Given the description of an element on the screen output the (x, y) to click on. 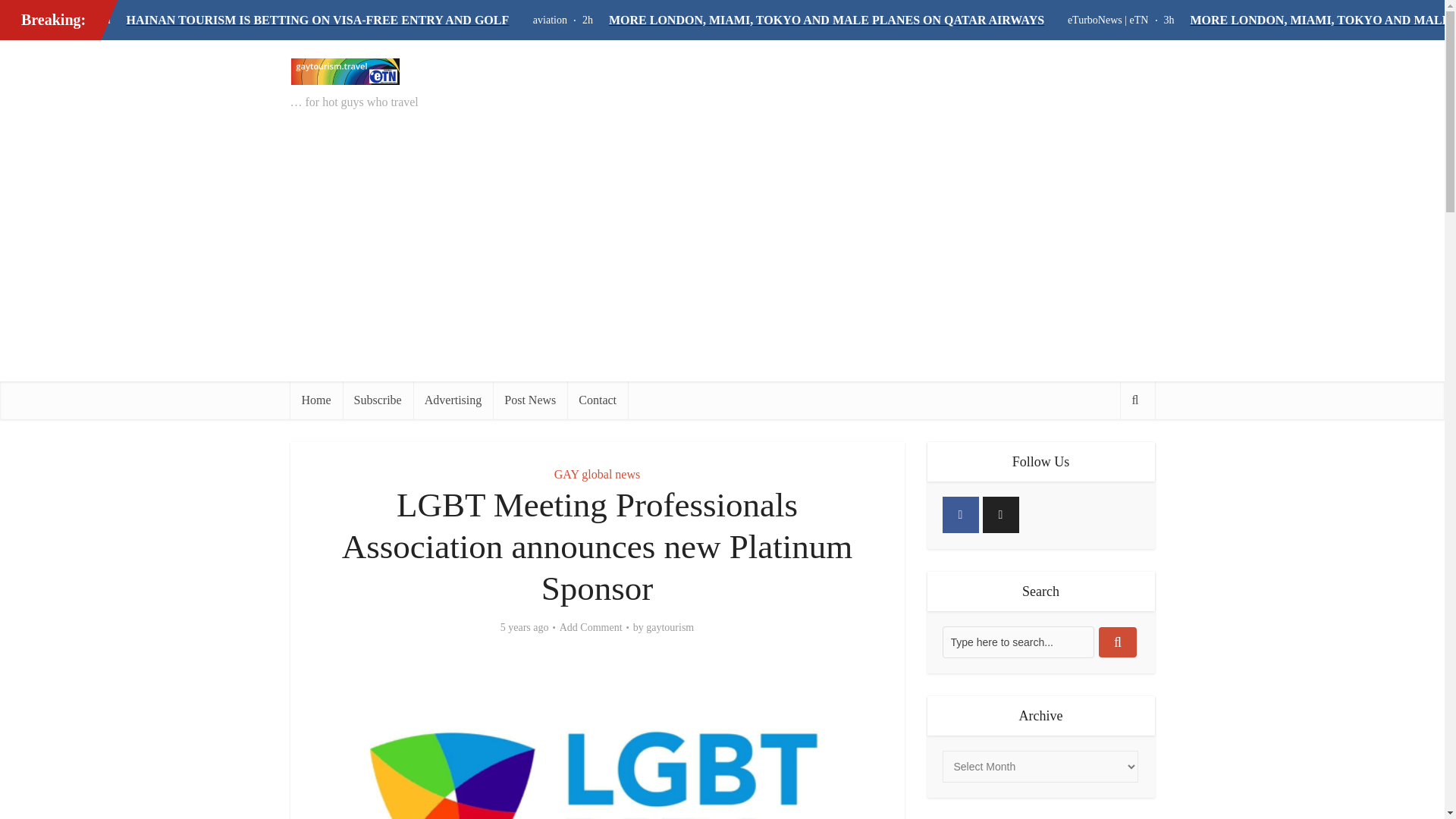
Type here to search... (1017, 642)
Add Comment (591, 627)
Type here to search... (1017, 642)
Subscribe (377, 400)
Post News (530, 400)
GAY global news (597, 473)
gaytourism (670, 627)
Contact (597, 400)
Advertising (453, 400)
Home (315, 400)
